Given the description of an element on the screen output the (x, y) to click on. 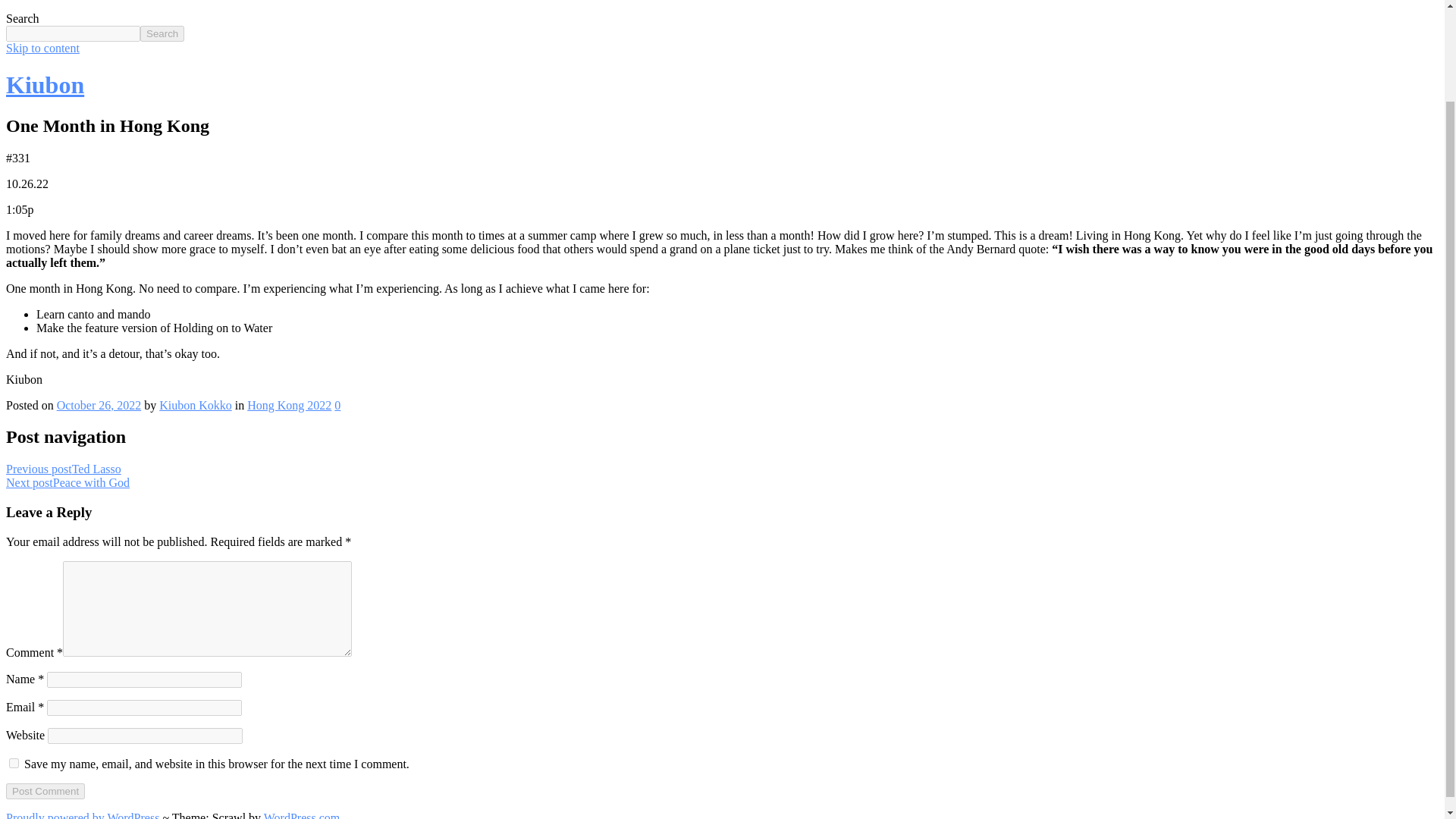
Kiubon (44, 84)
Skip to content (42, 47)
Search (161, 33)
Next postPeace with God (67, 481)
Hong Kong 2022 (289, 404)
yes (13, 763)
October 26, 2022 (98, 404)
Post Comment (44, 790)
Previous postTed Lasso (62, 468)
Kiubon Kokko (194, 404)
